Given the description of an element on the screen output the (x, y) to click on. 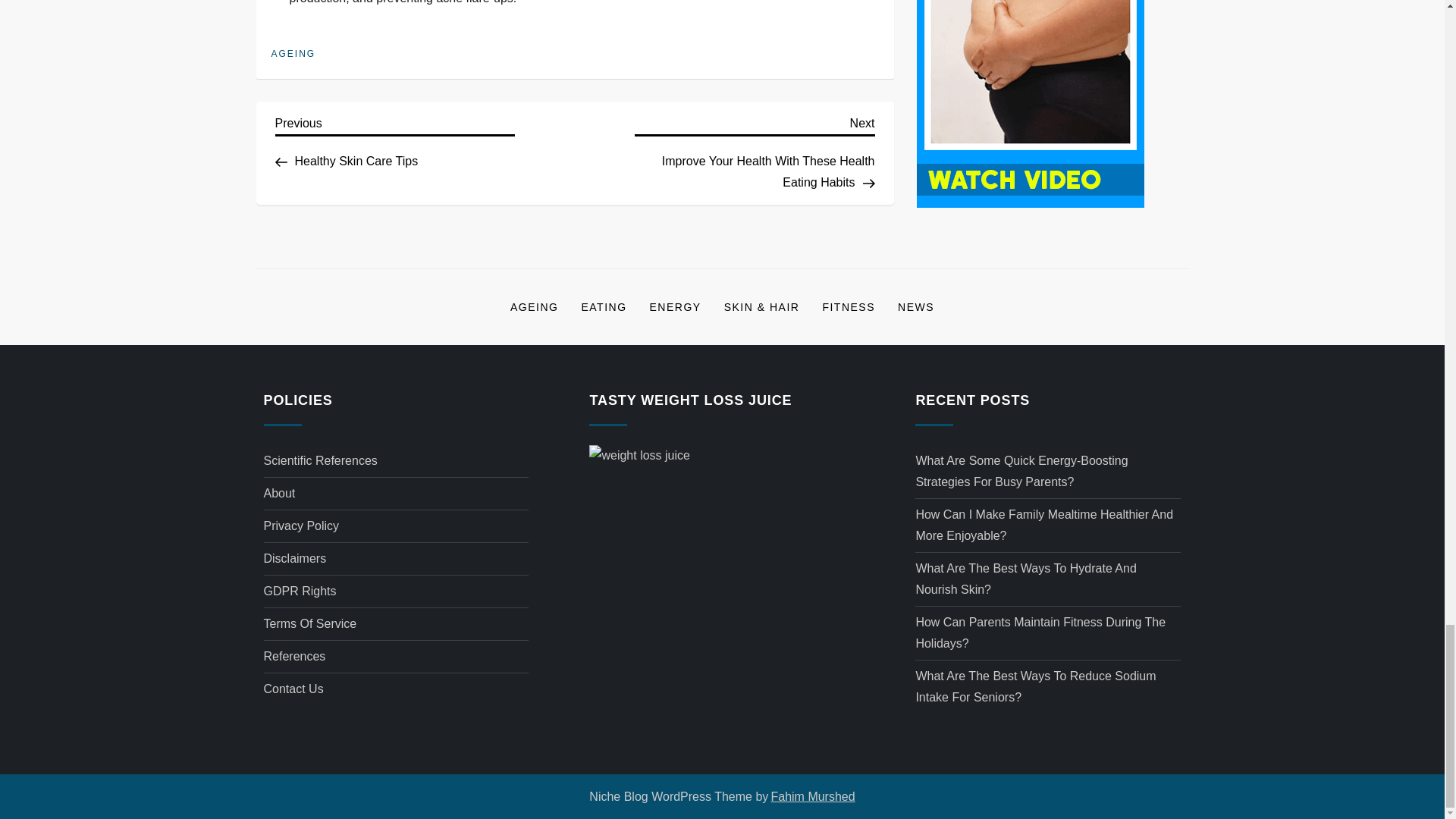
AGEING (534, 307)
How Can I Make Family Mealtime Healthier And More Enjoyable? (1047, 525)
References (294, 656)
Disclaimers (294, 558)
Terms Of Service (309, 623)
Scientific References (320, 460)
GDPR Rights (299, 590)
About (279, 493)
FITNESS (394, 140)
NEWS (848, 307)
Privacy Policy (915, 307)
AGEING (301, 526)
